Given the description of an element on the screen output the (x, y) to click on. 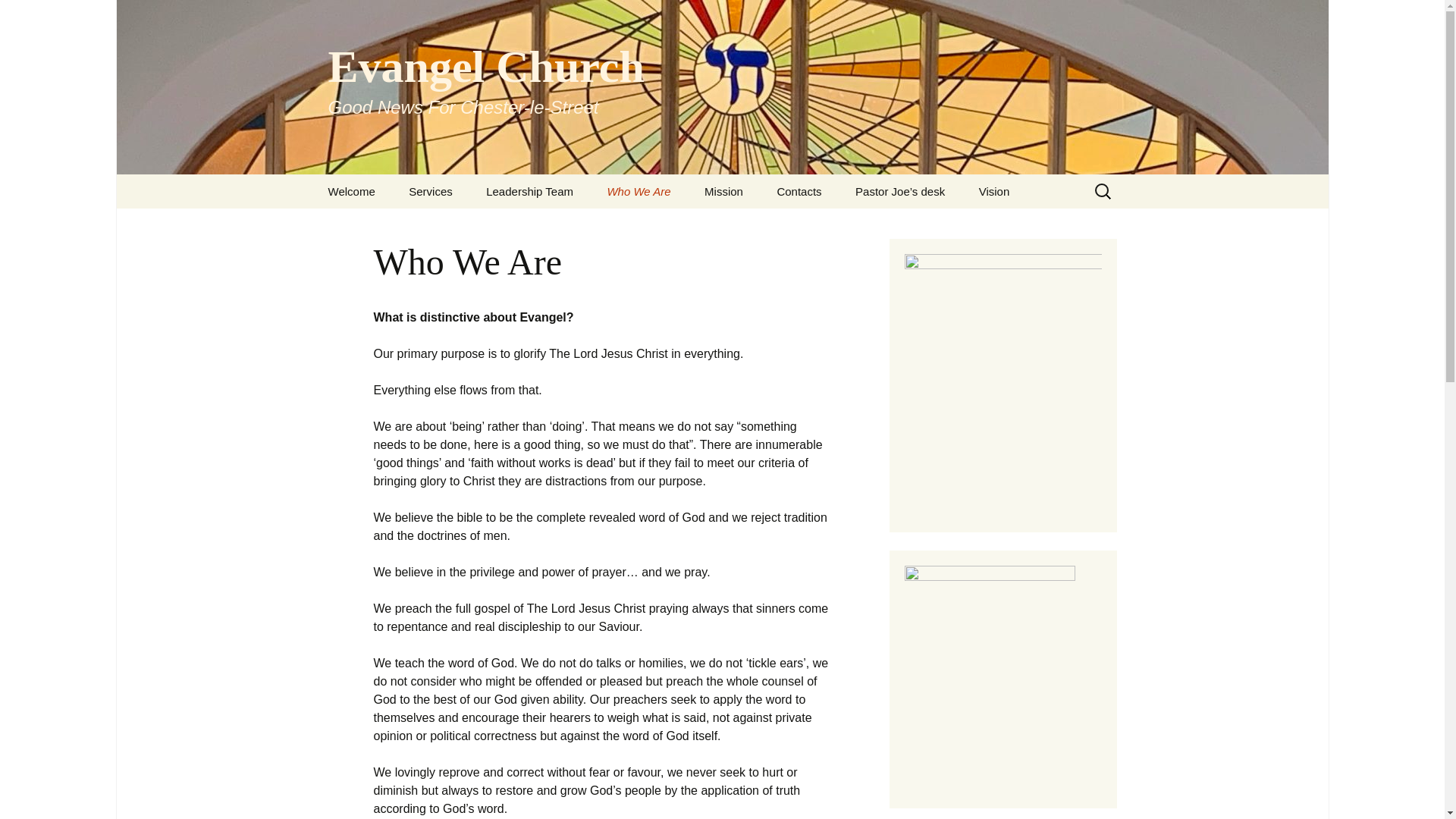
Evangel Church (529, 191)
Mission (18, 15)
Services (723, 191)
Welcome (430, 191)
How do I become a Christian? (351, 191)
Contacts (666, 230)
Who We Are (798, 191)
Vision (638, 191)
